Given the description of an element on the screen output the (x, y) to click on. 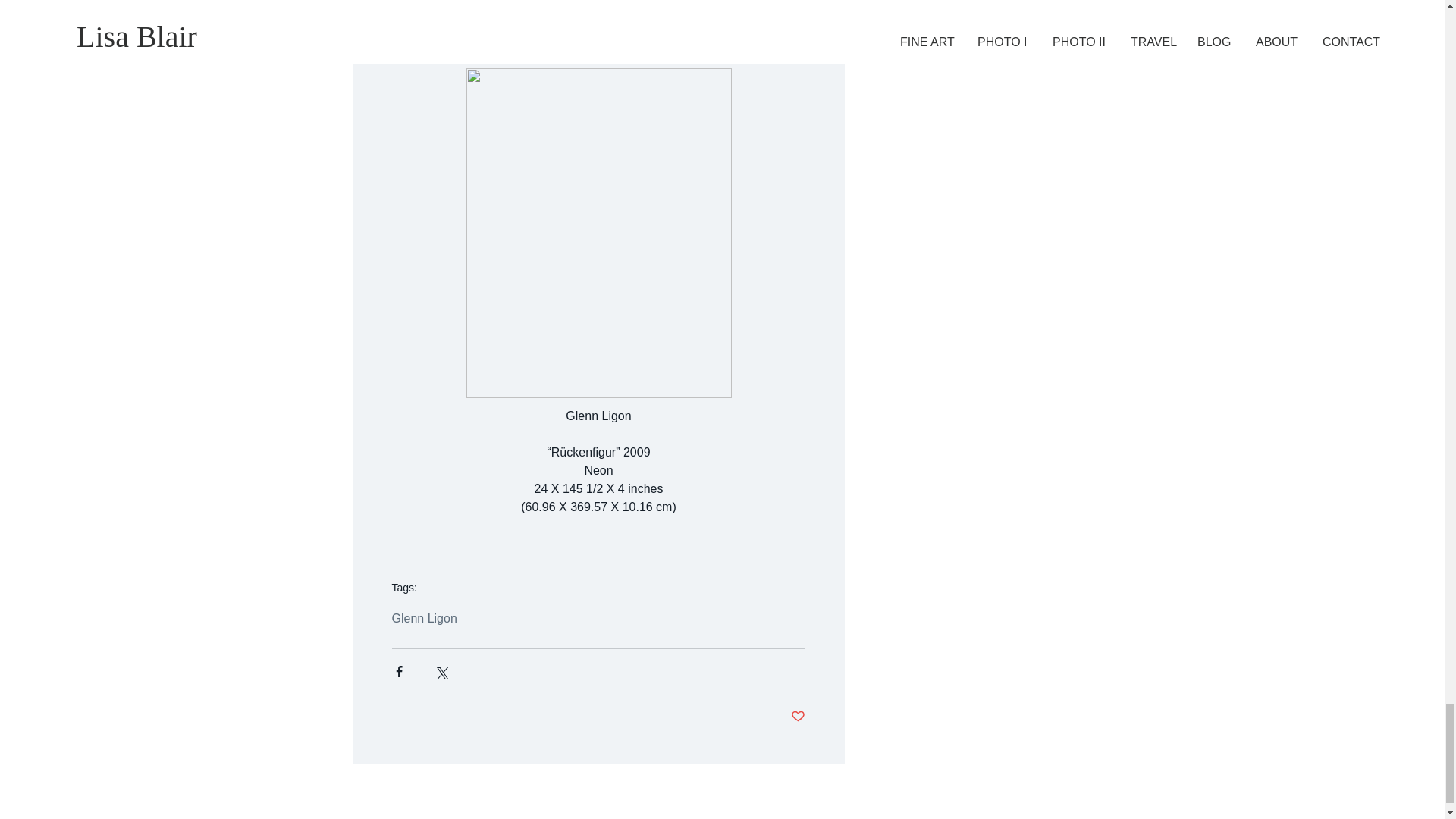
Glenn Ligon (424, 618)
Post not marked as liked (797, 716)
